Given the description of an element on the screen output the (x, y) to click on. 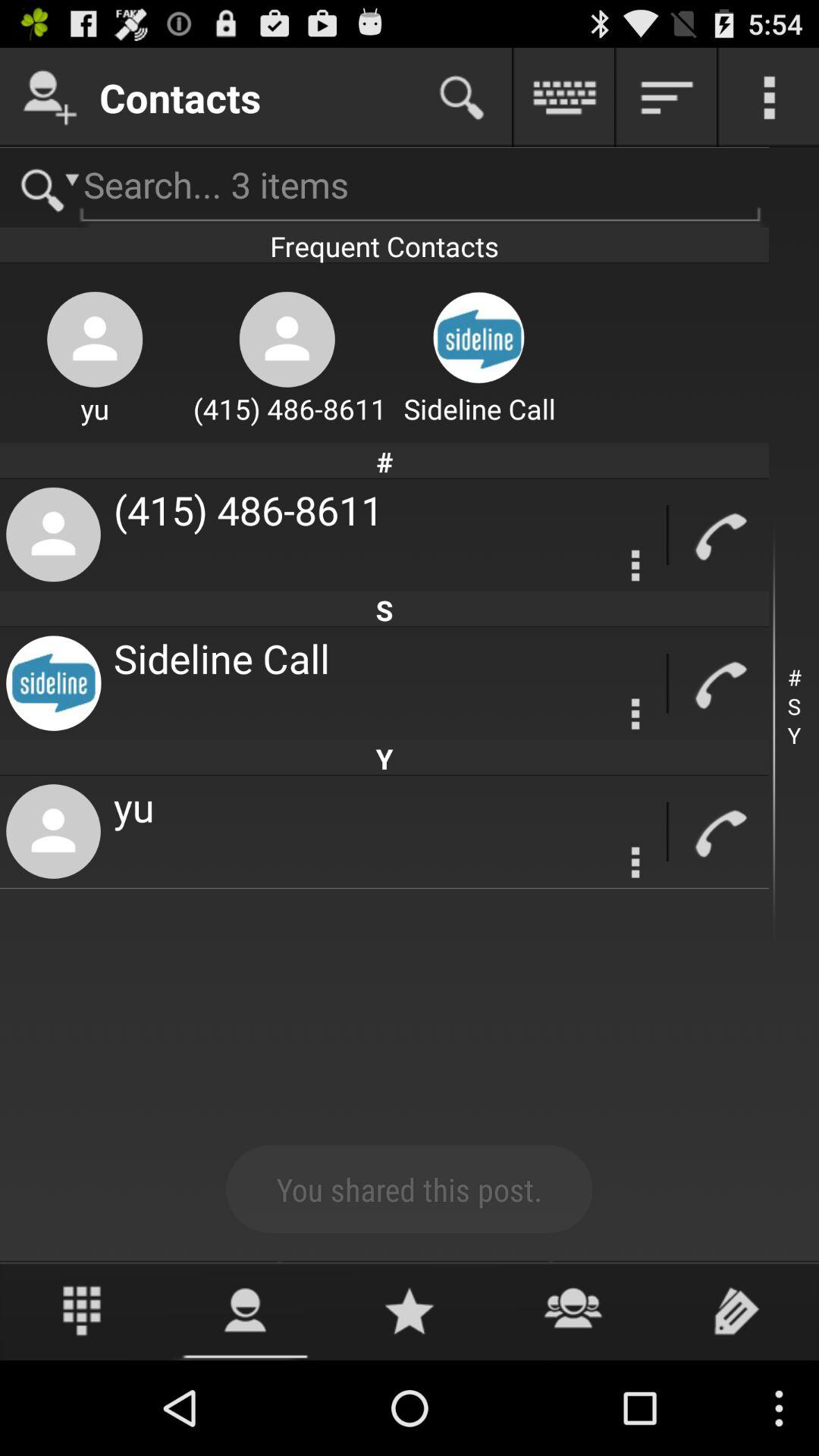
open keypad (81, 1310)
